Given the description of an element on the screen output the (x, y) to click on. 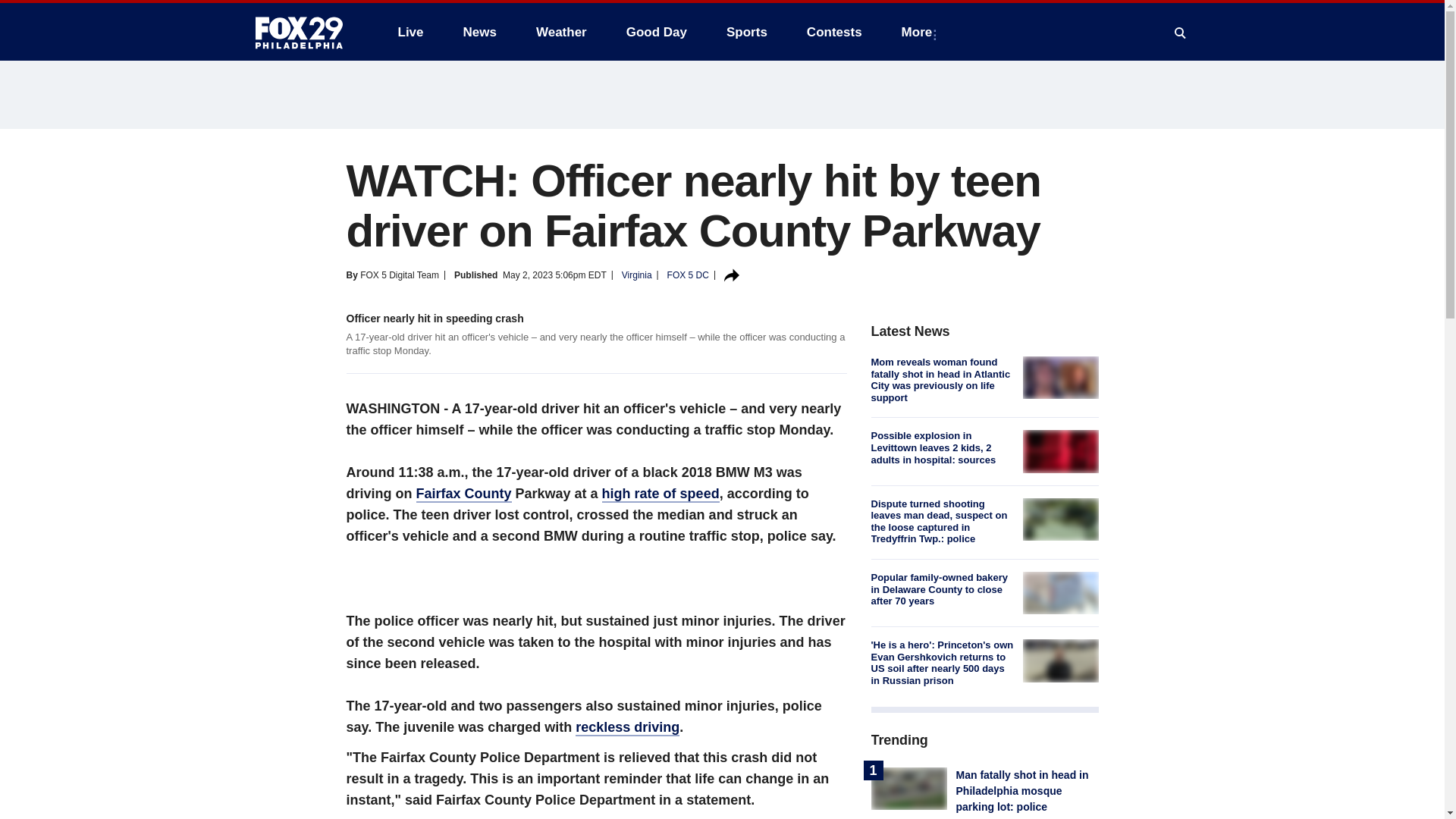
More (919, 32)
Weather (561, 32)
Good Day (656, 32)
Contests (834, 32)
News (479, 32)
Live (410, 32)
Sports (746, 32)
